Given the description of an element on the screen output the (x, y) to click on. 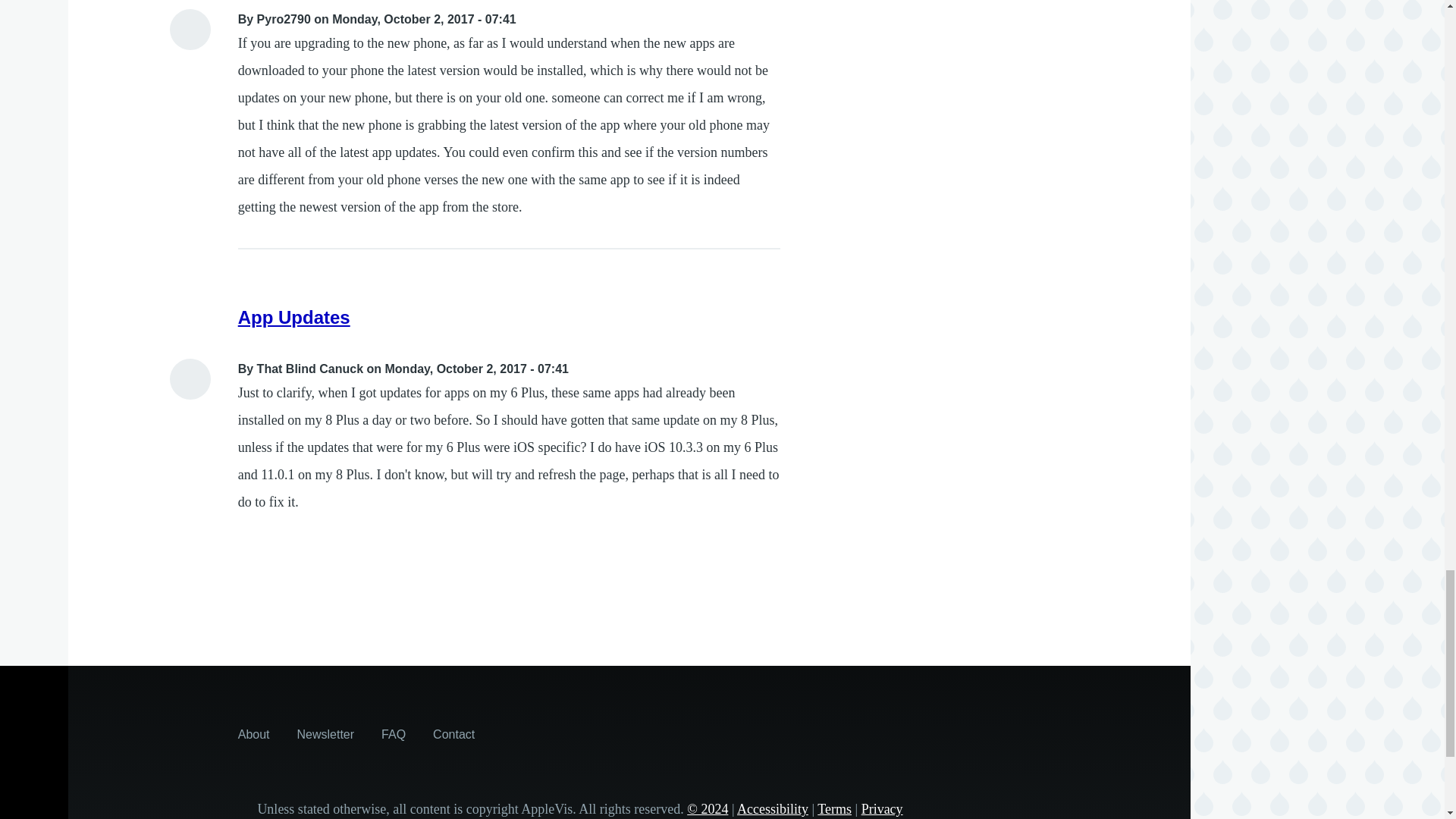
Newsletters (326, 733)
Answers to some frequently asked questions about AppleVis (393, 733)
Terms (833, 808)
About (253, 733)
About (253, 733)
Newsletter (326, 733)
App Updates (294, 317)
Contact (453, 733)
FAQ (393, 733)
Accessibility (772, 808)
